Given the description of an element on the screen output the (x, y) to click on. 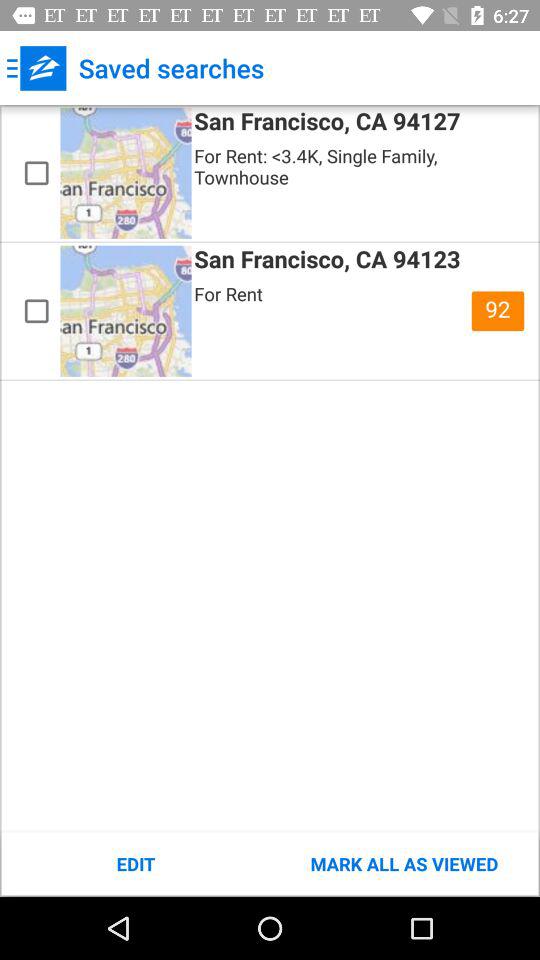
press item at the bottom left corner (135, 863)
